Given the description of an element on the screen output the (x, y) to click on. 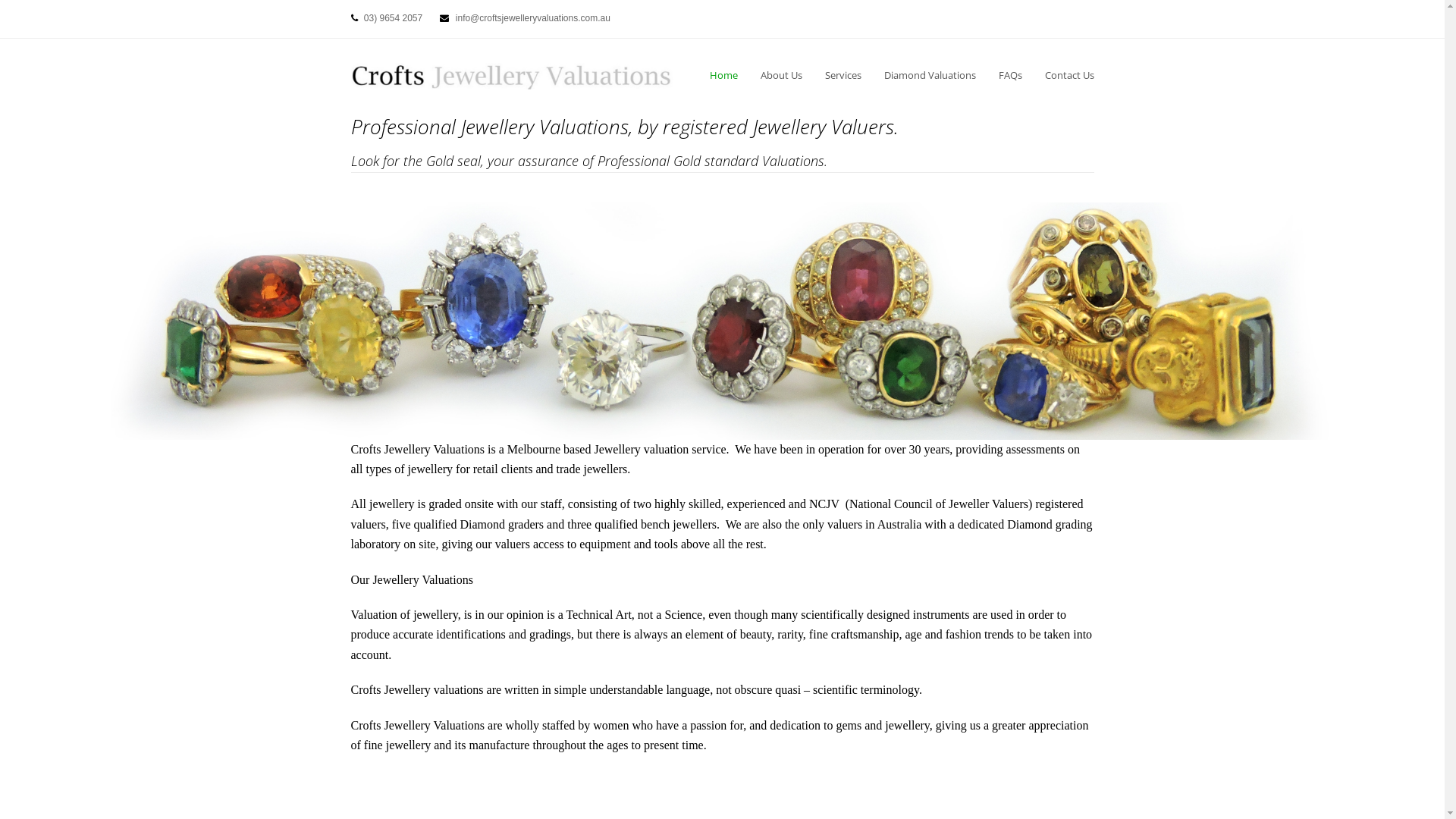
About Us Element type: text (781, 75)
Contact Us Element type: text (1068, 75)
Services Element type: text (842, 75)
Home Element type: text (722, 75)
Diamond Valuations Element type: text (929, 75)
FAQs Element type: text (1010, 75)
Crofts Jewellery Valuations Element type: hover (513, 74)
